Given the description of an element on the screen output the (x, y) to click on. 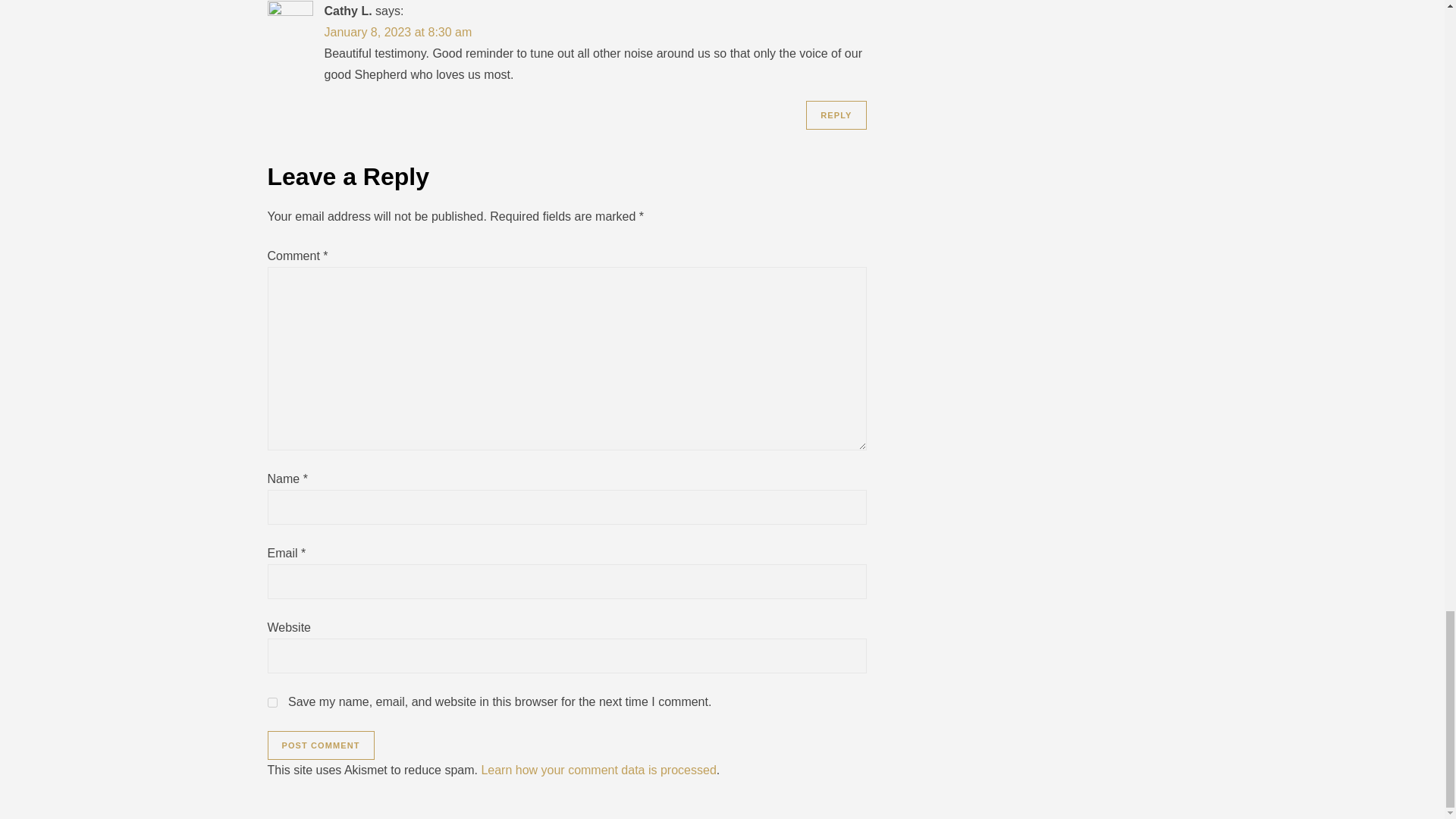
REPLY (836, 114)
yes (271, 702)
January 8, 2023 at 8:30 am (397, 31)
Learn how your comment data is processed (598, 769)
Post Comment (320, 745)
Post Comment (320, 745)
